Given the description of an element on the screen output the (x, y) to click on. 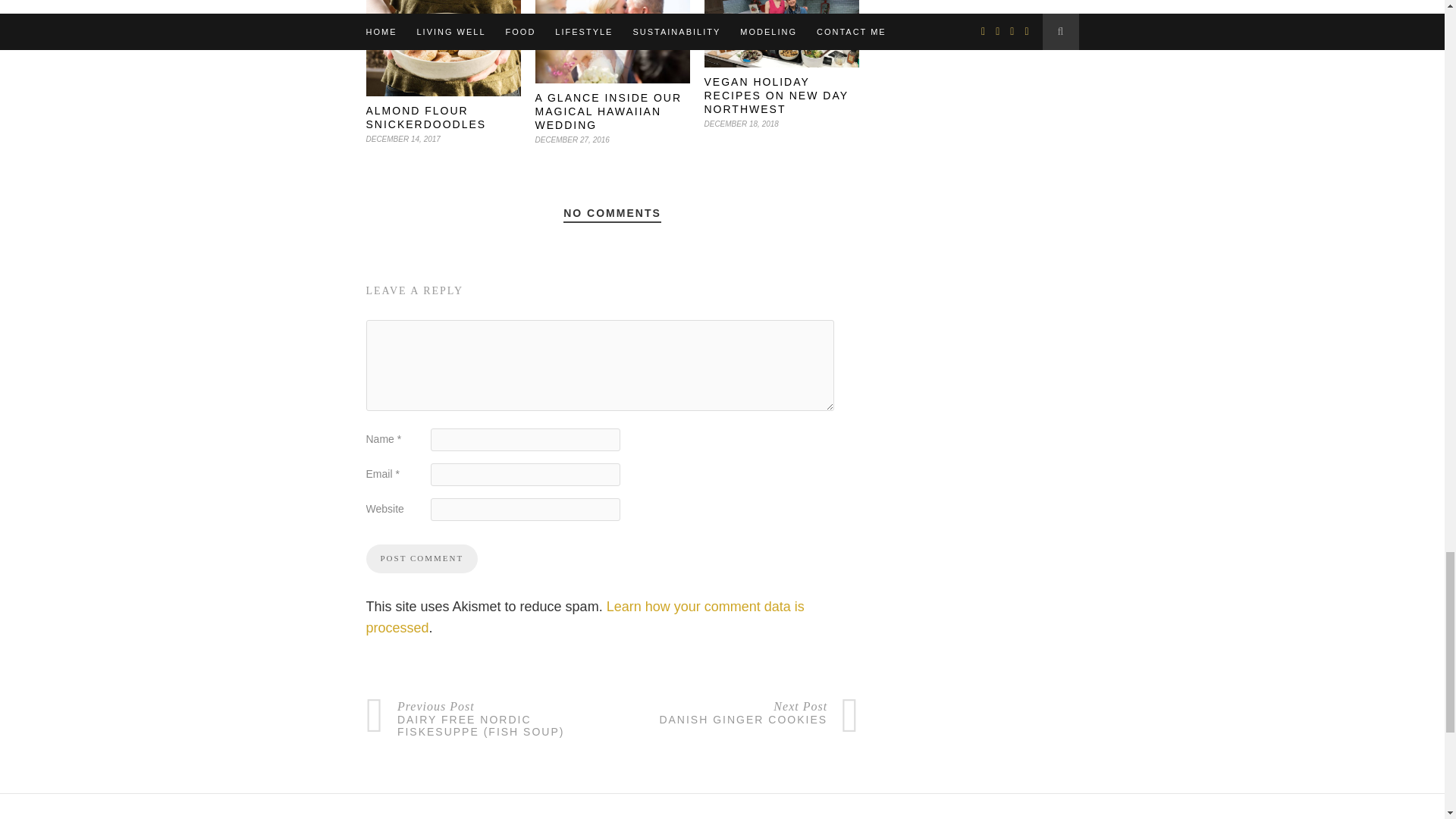
Post Comment (421, 558)
